Given the description of an element on the screen output the (x, y) to click on. 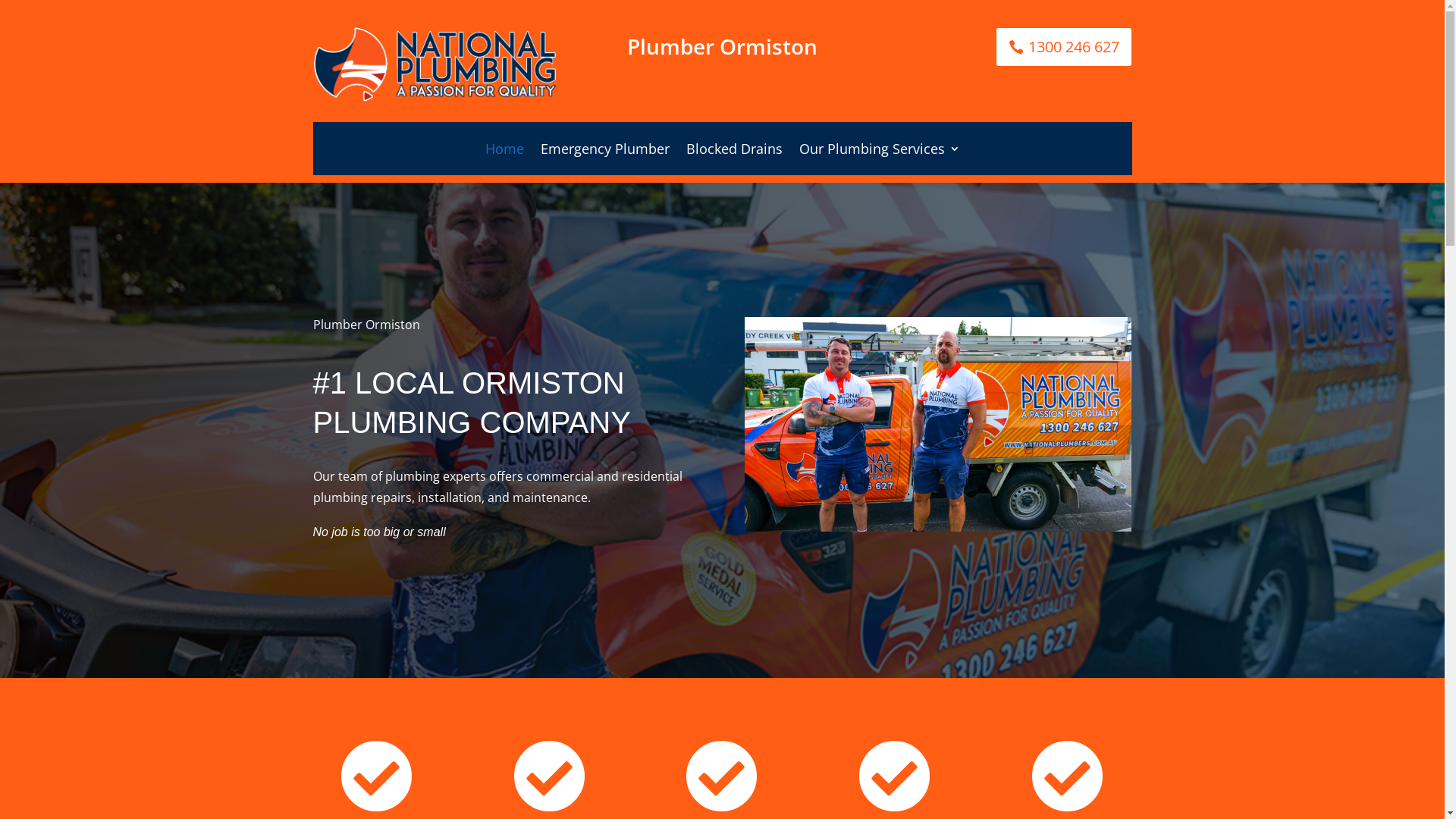
Plumber Ormiston Element type: hover (937, 423)
Blocked Drains Element type: text (733, 151)
Emergency Plumber Element type: text (603, 151)
Our Plumbing Services Element type: text (879, 151)
1300 246 627 Element type: text (1063, 46)
Home Element type: text (504, 151)
National Plumbing Ormiston Element type: hover (433, 64)
